Given the description of an element on the screen output the (x, y) to click on. 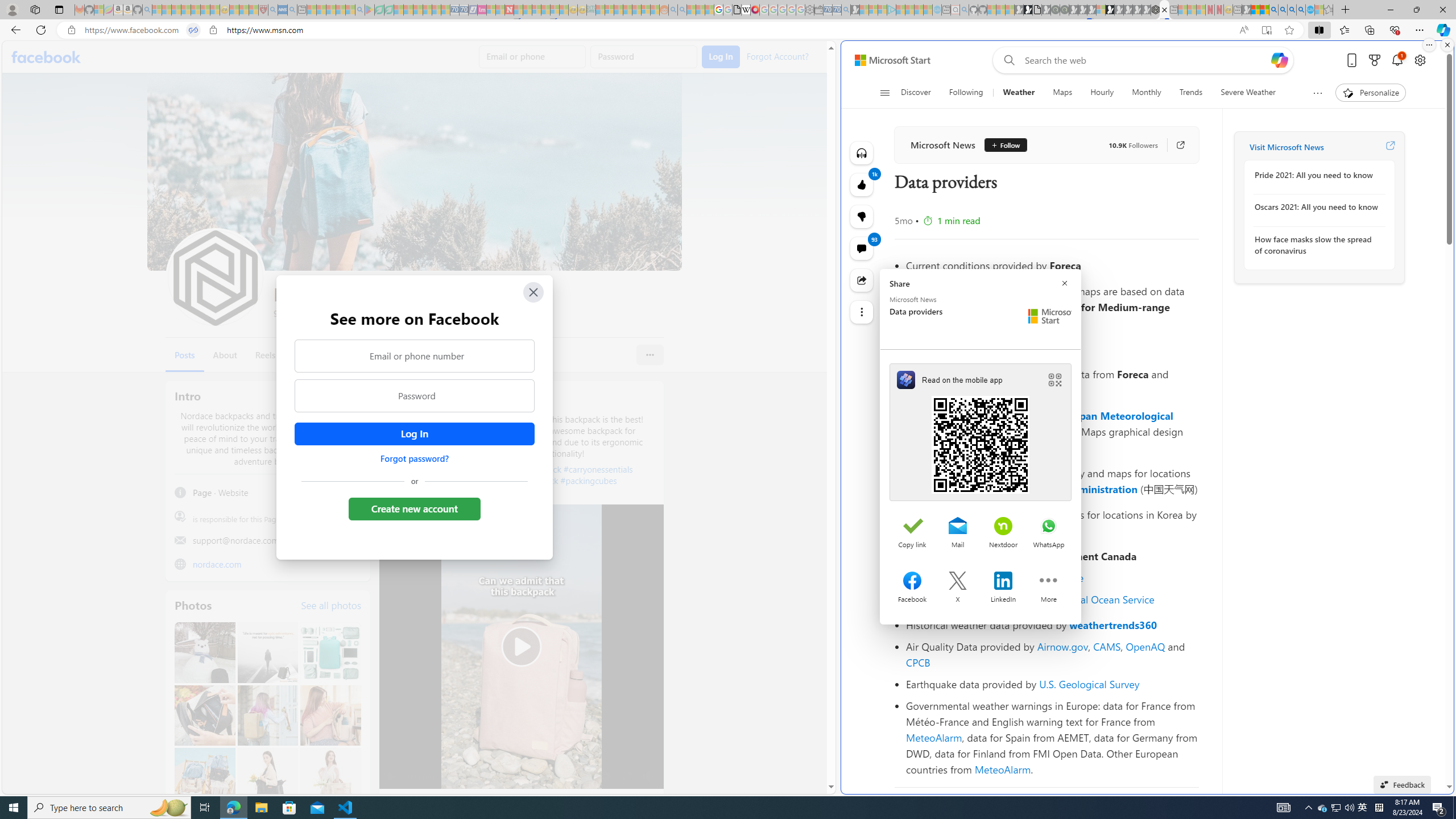
Hourly (1101, 92)
weathertrends360 (1112, 625)
Share via email (957, 526)
2009 Bing officially replaced Live Search on June 3 - Search (1283, 9)
Airnow.gov (1062, 646)
Historical weather data provided by weathertrends360 (1051, 624)
Show more topics (1316, 92)
